Given the description of an element on the screen output the (x, y) to click on. 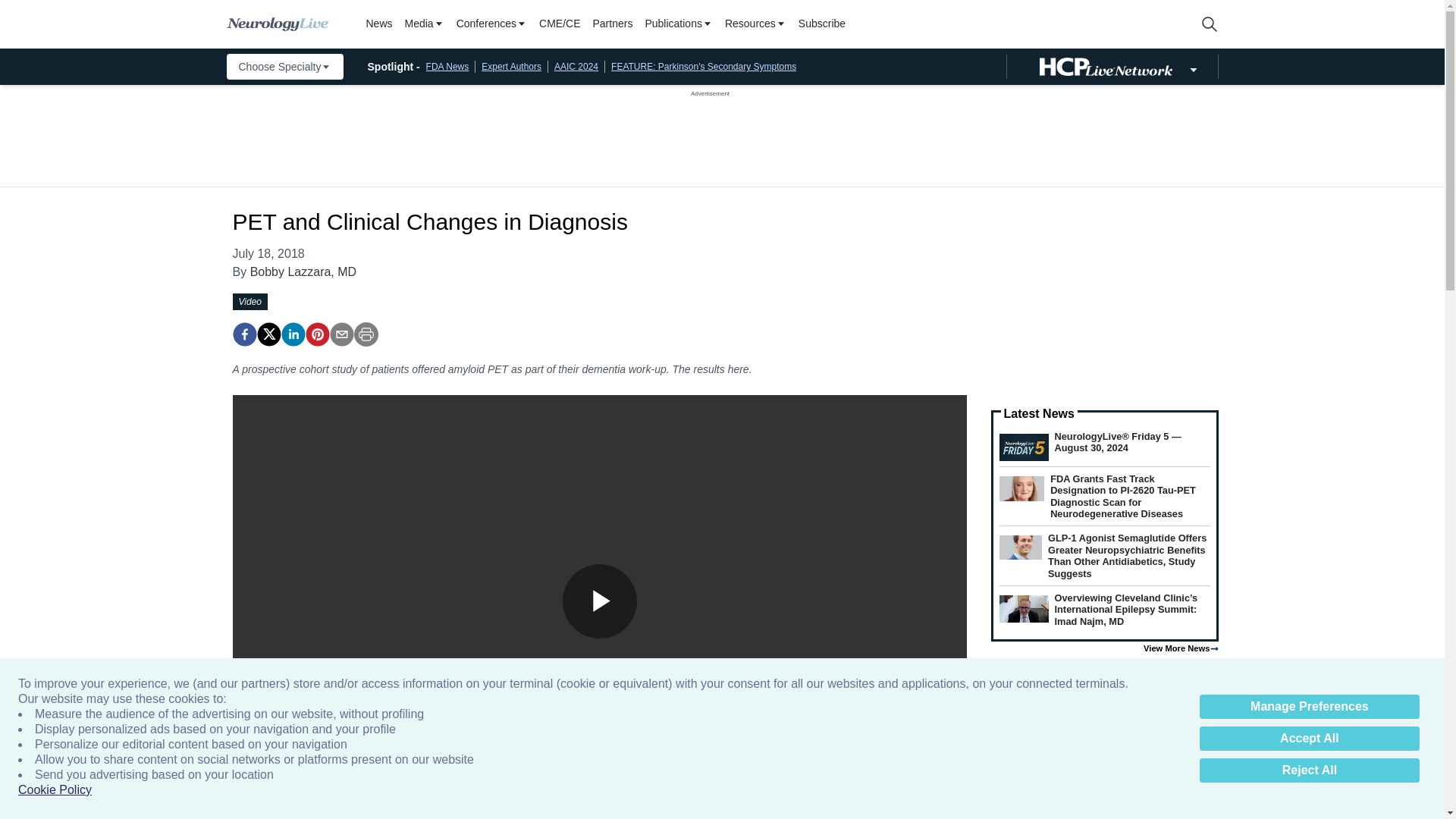
News (378, 23)
Reject All (1309, 769)
Conferences (492, 23)
Accept All (1309, 738)
Cookie Policy (54, 789)
Resources (755, 23)
Publications (679, 23)
Manage Preferences (1309, 706)
Partners (612, 23)
Media (424, 23)
